Given the description of an element on the screen output the (x, y) to click on. 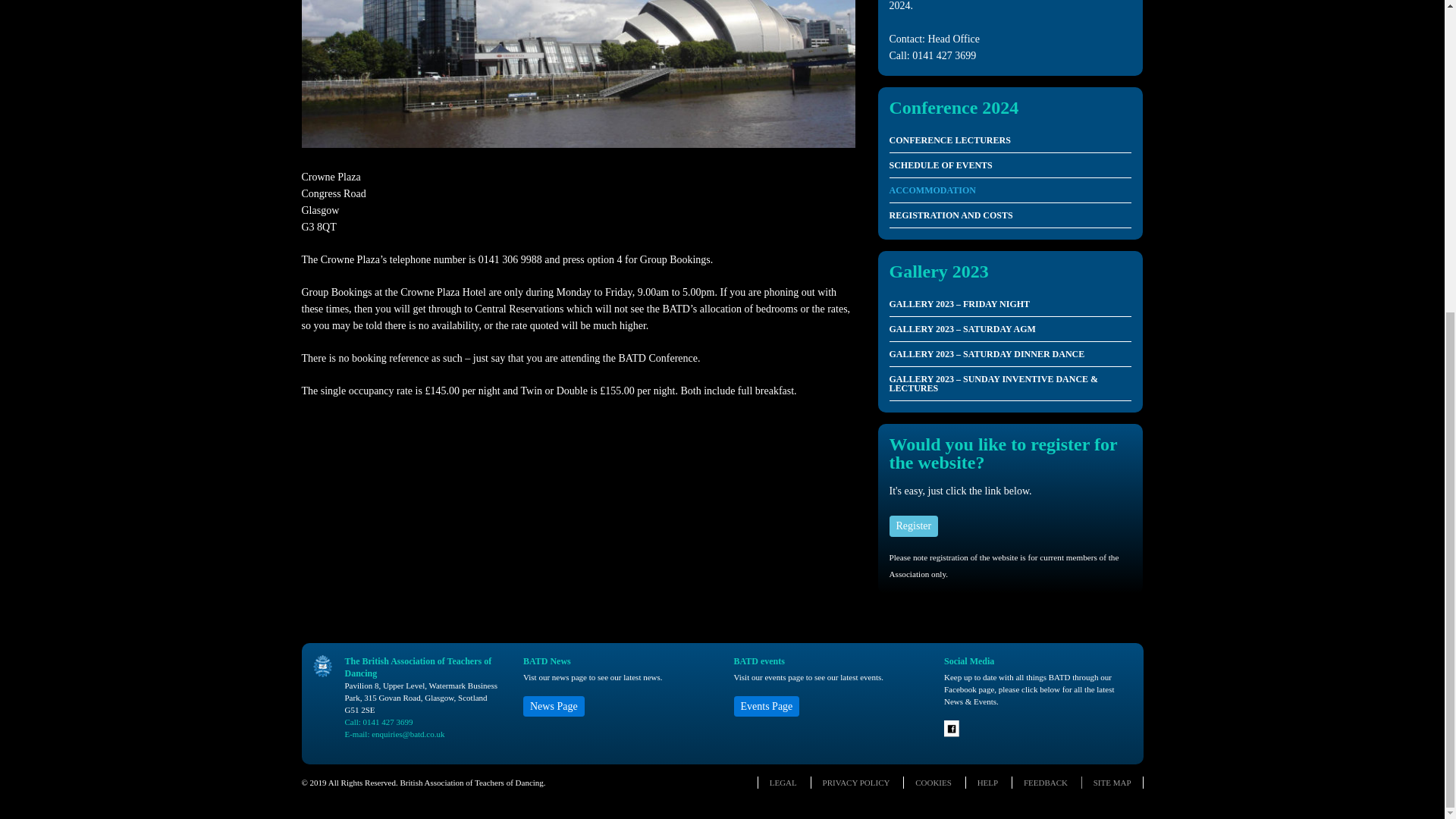
SITE MAP (1112, 781)
COOKIES (933, 781)
News Page (553, 705)
CONFERENCE LECTURERS (1009, 140)
Register (912, 526)
LEGAL (783, 781)
ACCOMMODATION (1009, 190)
REGISTRATION AND COSTS (1009, 215)
HELP (987, 781)
The-British-Association-of-Teachers-of-Dancing - Facebook (951, 732)
Events Page (766, 705)
SCHEDULE OF EVENTS (1009, 165)
PRIVACY POLICY (855, 781)
FEEDBACK (1045, 781)
Call: 0141 427 3699 (377, 720)
